Given the description of an element on the screen output the (x, y) to click on. 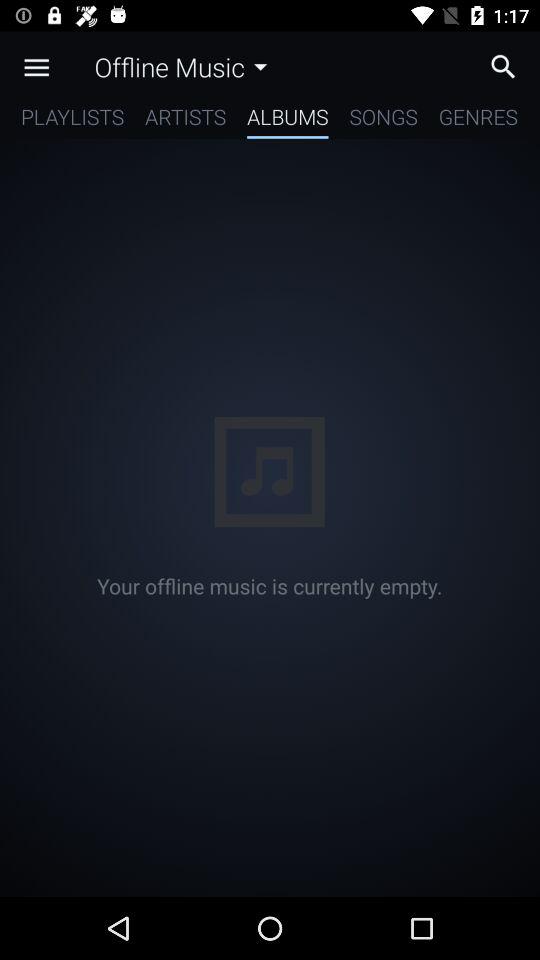
turn off item next to the offline music item (36, 67)
